Given the description of an element on the screen output the (x, y) to click on. 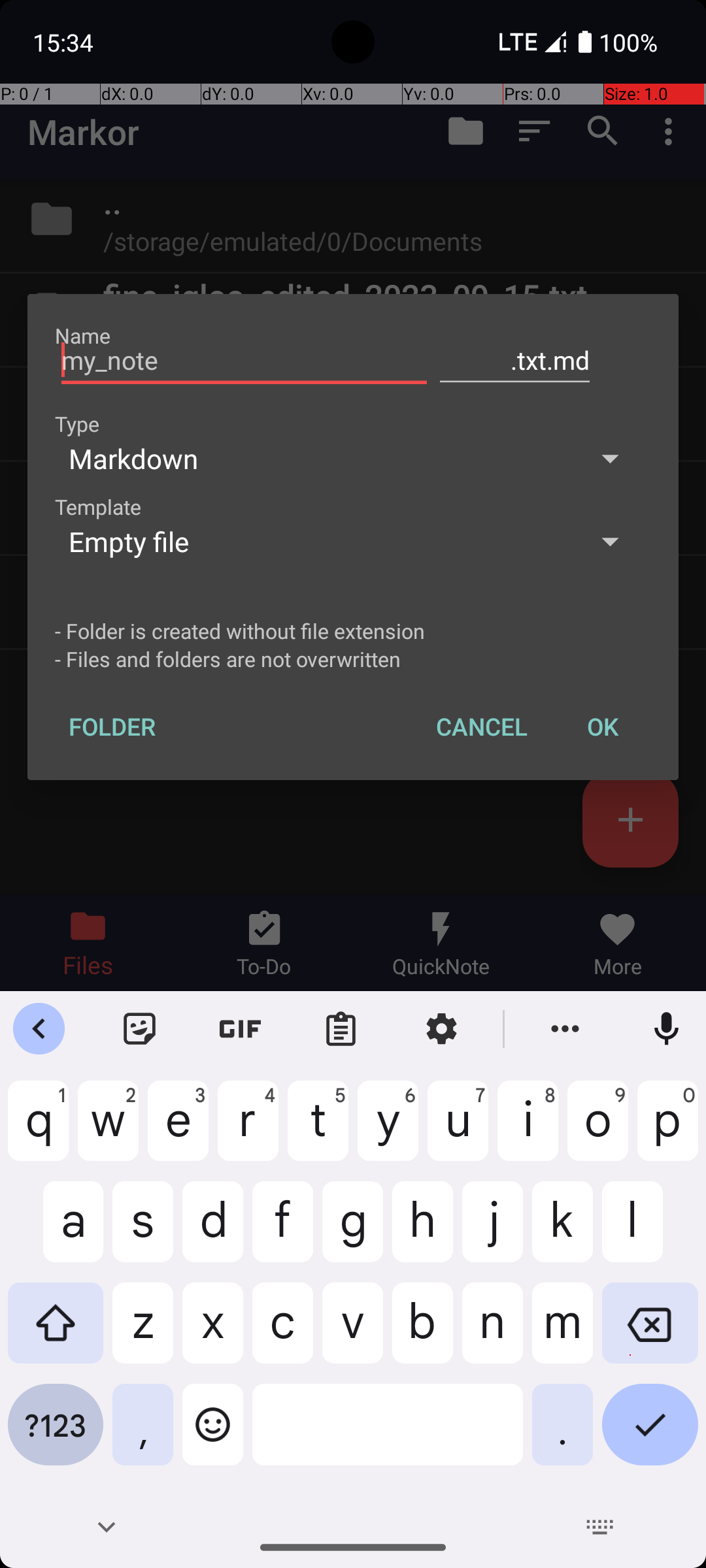
.txt.md Element type: android.widget.EditText (514, 360)
